Given the description of an element on the screen output the (x, y) to click on. 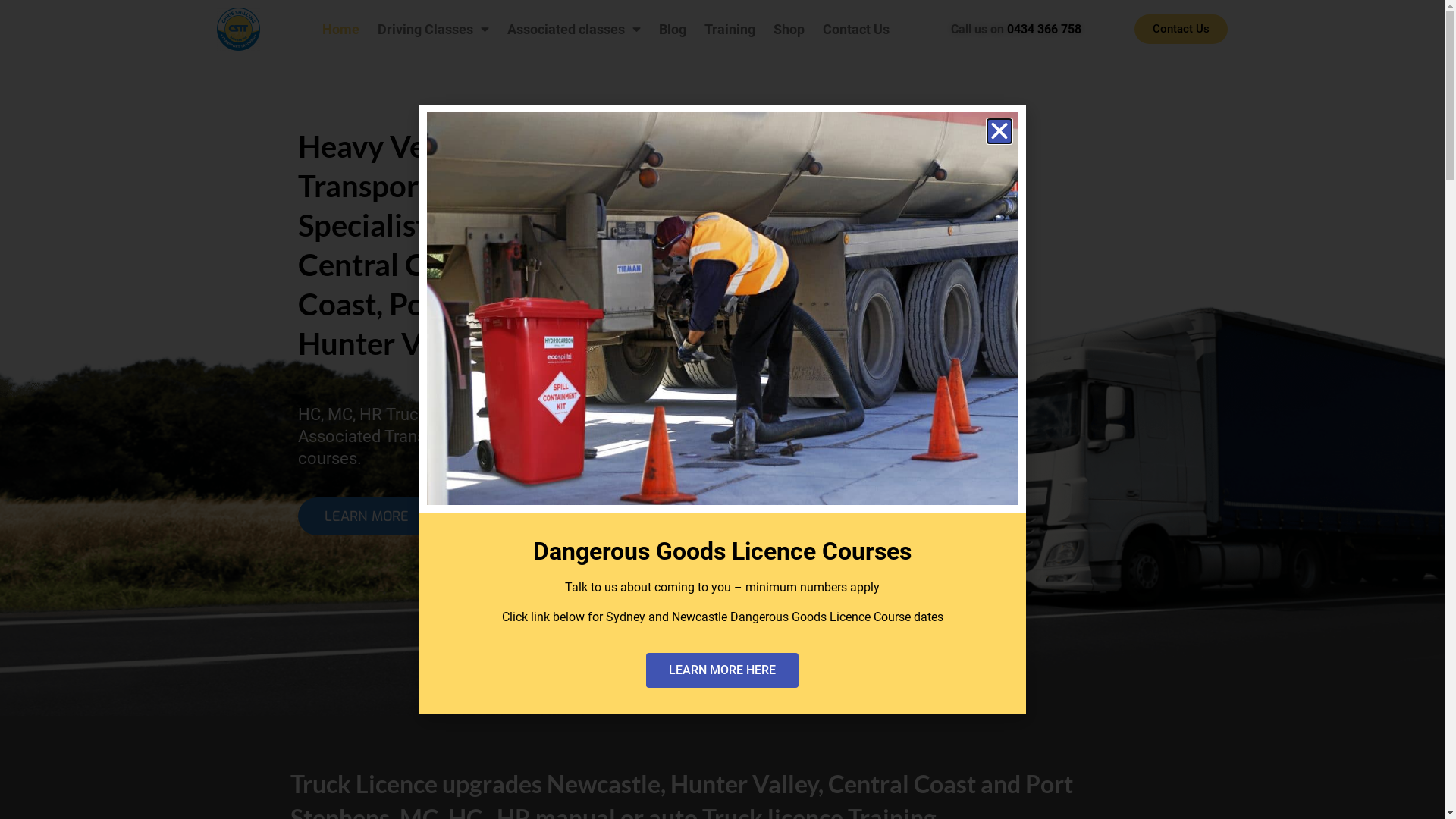
Contact Us Element type: text (1180, 28)
Home Element type: text (340, 29)
Contact Us Element type: text (855, 29)
Shop Element type: text (788, 29)
Blog Element type: text (672, 29)
36822 Chris Shilling Training & Transport_Logo Element type: hover (238, 28)
LEARN MORE Element type: text (366, 516)
Associated classes Element type: text (573, 29)
Training Element type: text (729, 29)
Driving Classes Element type: text (433, 29)
LEARN MORE HERE Element type: text (722, 669)
Call us on 0434 366 758 Element type: text (1015, 28)
